Given the description of an element on the screen output the (x, y) to click on. 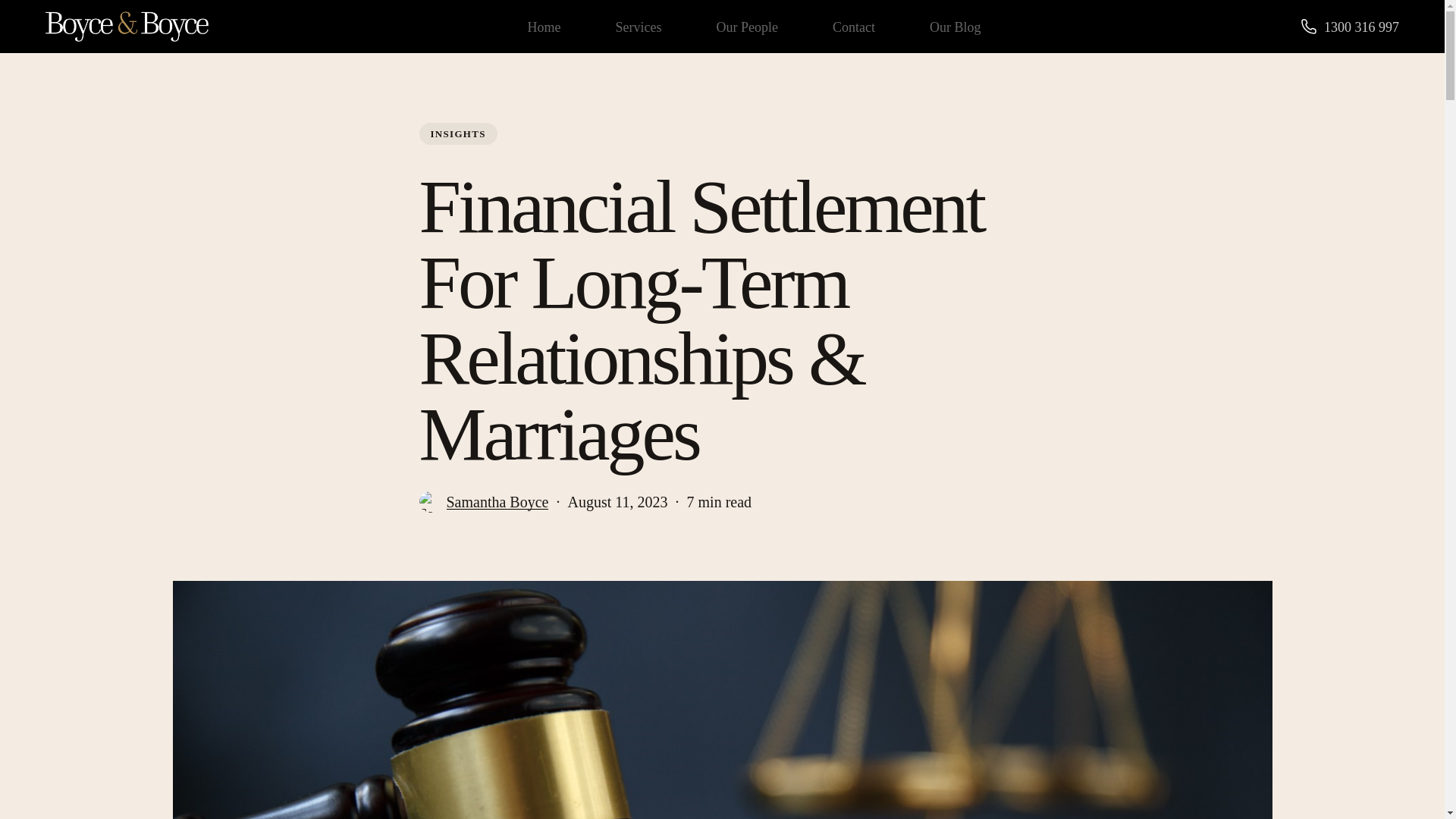
INSIGHTS (457, 137)
Contact (853, 27)
Our Blog (955, 27)
Services (638, 27)
Samantha Boyce (496, 510)
Posts by Samantha Boyce (496, 501)
Our People (746, 27)
1300 316 997 (1361, 27)
Home (543, 27)
